Given the description of an element on the screen output the (x, y) to click on. 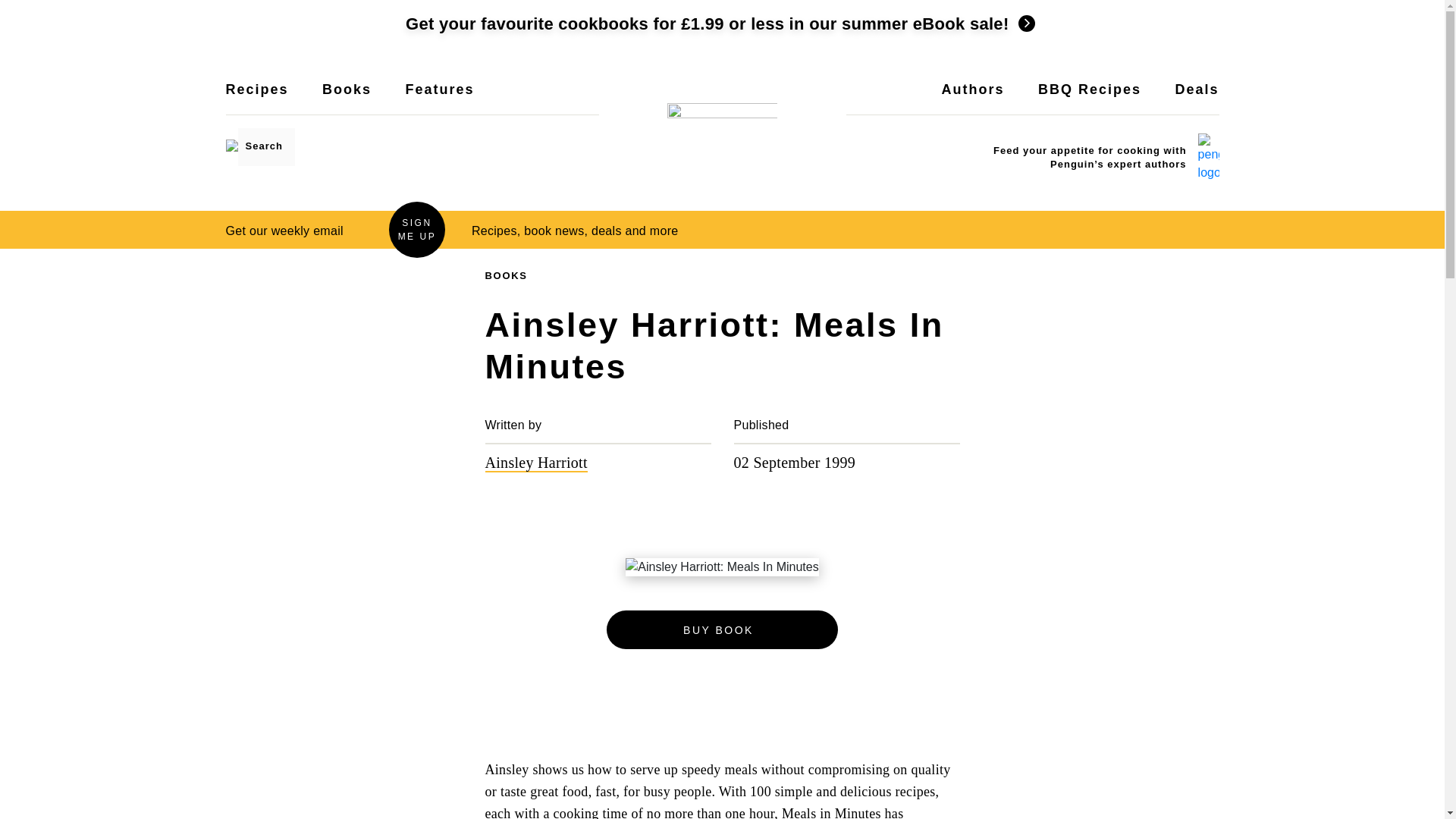
Authors (973, 98)
Recipes (256, 98)
Books (346, 98)
Deals (1196, 98)
BBQ Recipes (1089, 98)
Features (439, 98)
